Given the description of an element on the screen output the (x, y) to click on. 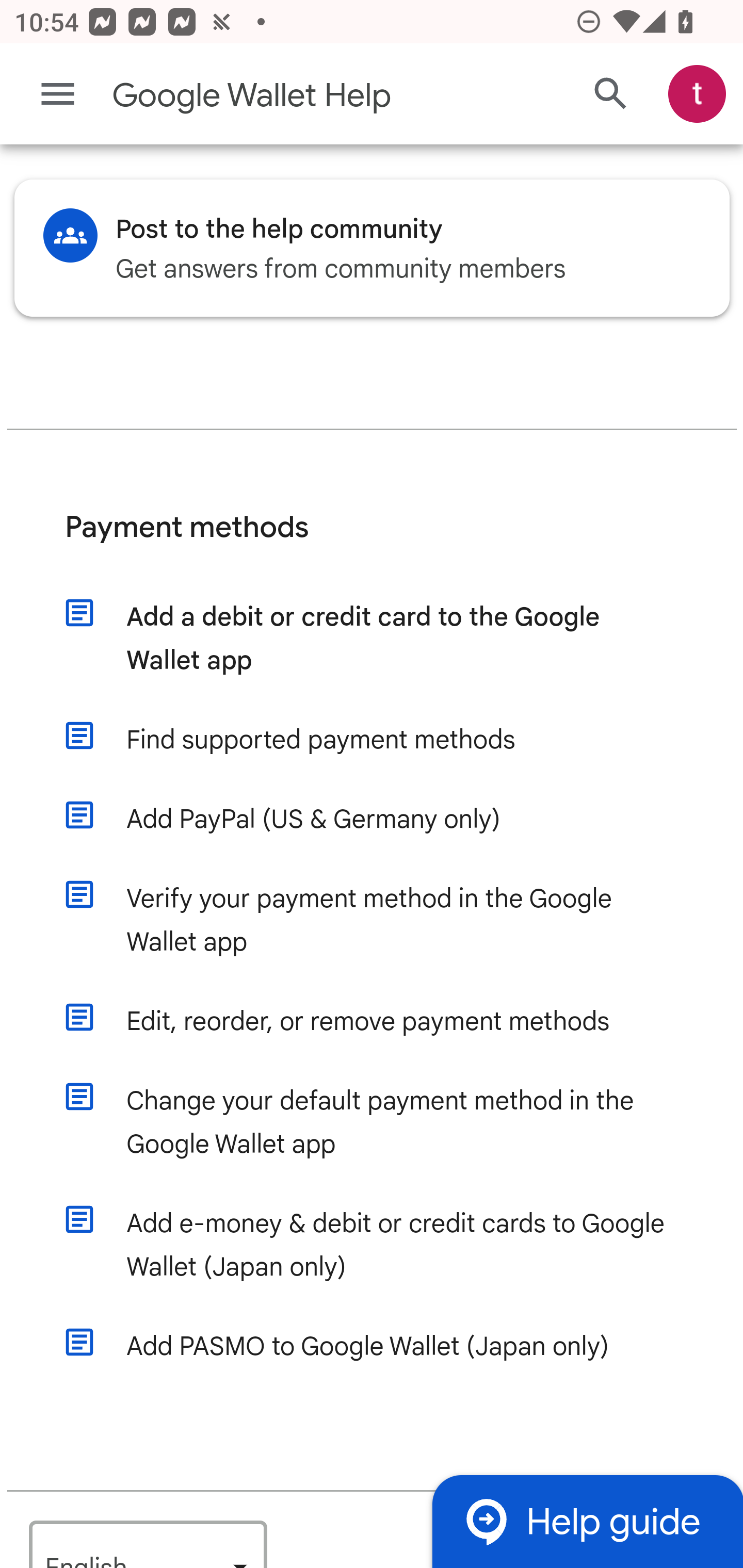
Main menu (58, 93)
Google Wallet Help (292, 96)
Search Help Center (611, 94)
Payment methods Payment methods Payment methods (372, 541)
Find supported payment methods (390, 740)
Add PayPal (US & Germany only) (390, 819)
Edit, reorder, or remove payment methods (390, 1022)
Add PASMO to Google Wallet (Japan only) (390, 1347)
Help guide (587, 1520)
